Given the description of an element on the screen output the (x, y) to click on. 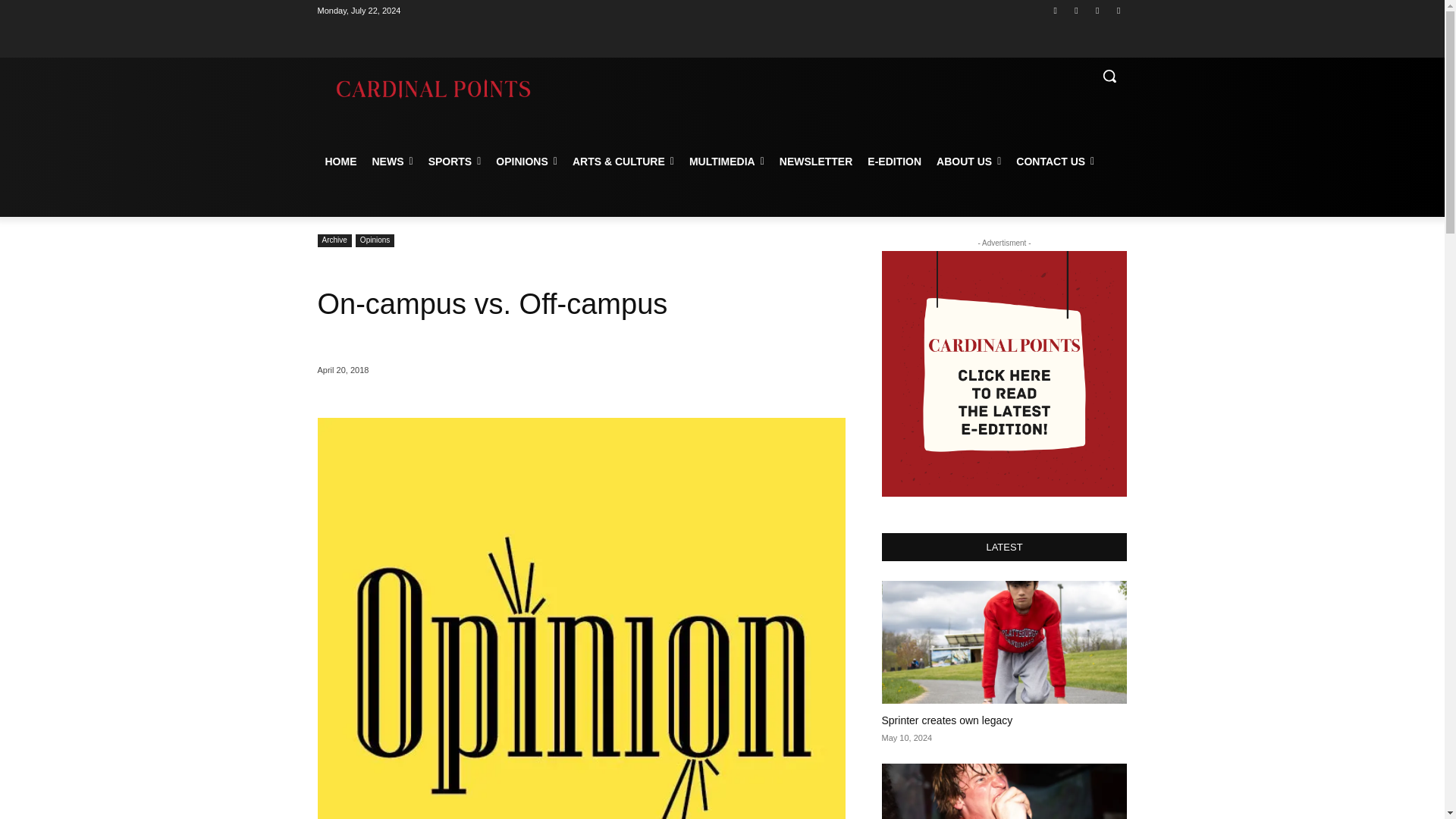
Youtube (1117, 9)
HOME (340, 161)
Twitter (1097, 9)
Facebook (1055, 9)
NEWS (392, 161)
Instagram (1075, 9)
SPORTS (454, 161)
